Given the description of an element on the screen output the (x, y) to click on. 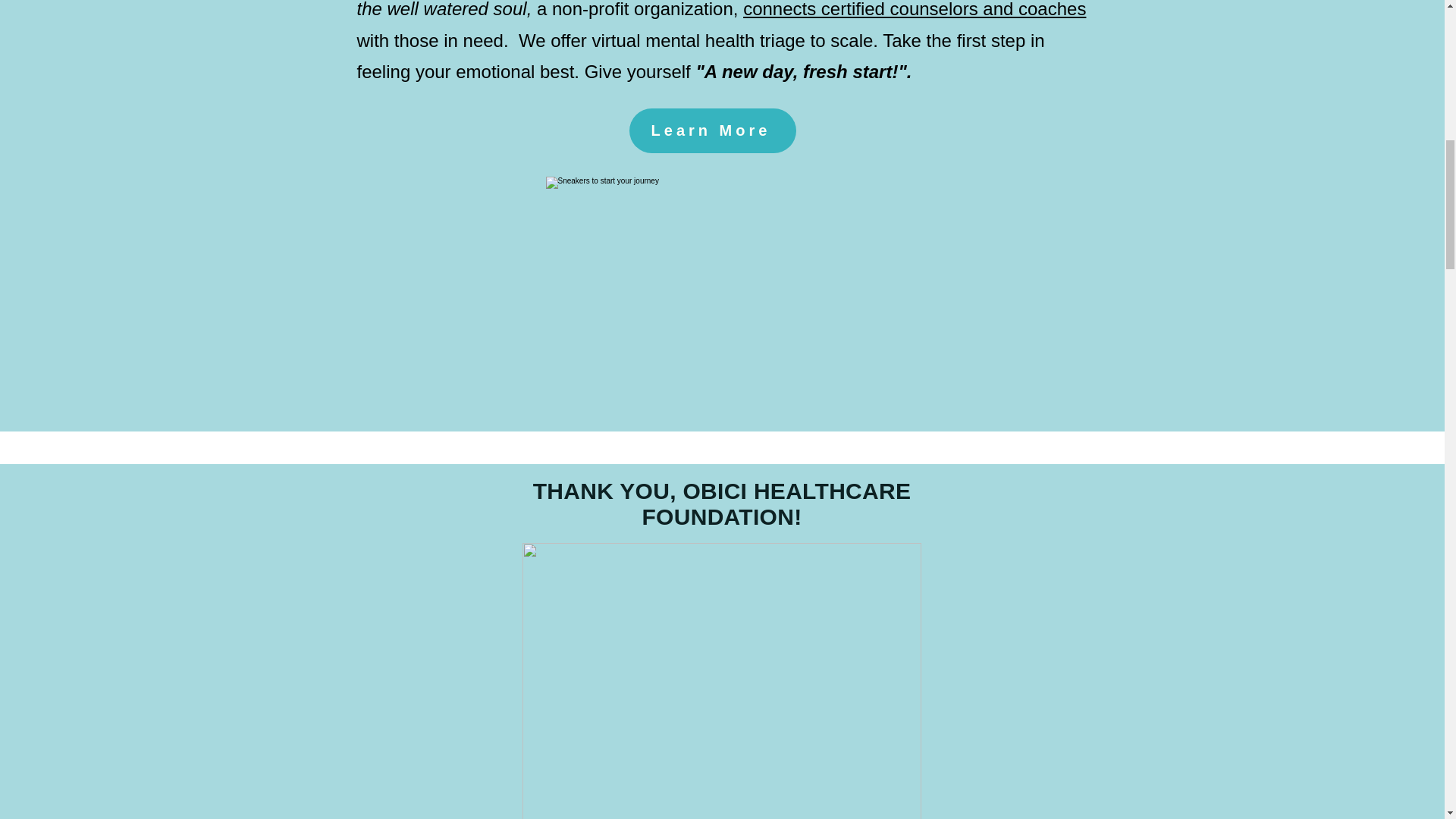
connects certified counselors and coaches (914, 9)
Learn More (712, 130)
OBICI Announcement.JPG (720, 680)
